Given the description of an element on the screen output the (x, y) to click on. 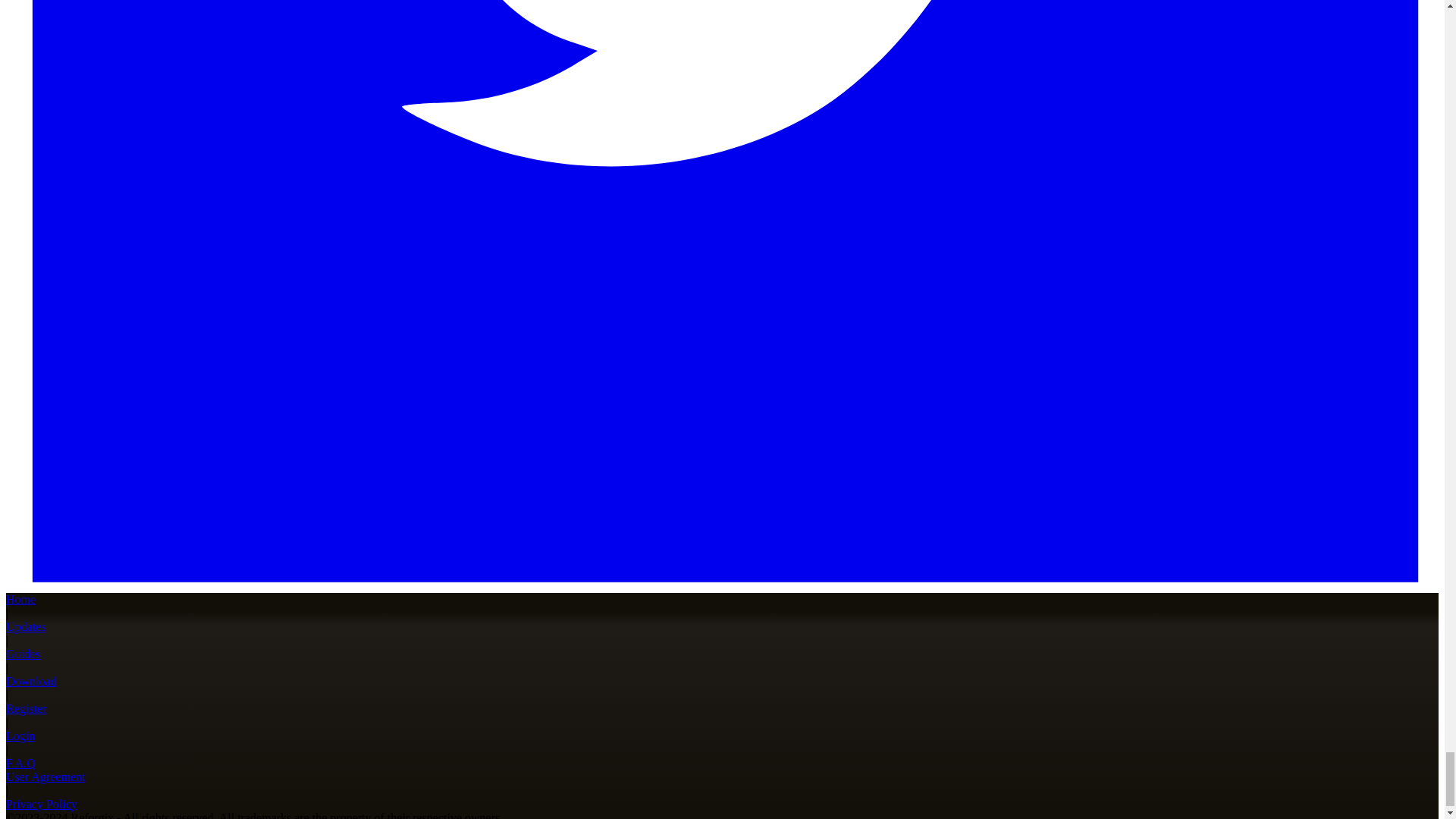
F.A.Q (19, 762)
Download (30, 680)
Register (25, 707)
User Agreement (44, 776)
Privacy Policy (41, 803)
Updates (25, 626)
Login (19, 735)
Home (19, 599)
Guides (22, 653)
